Given the description of an element on the screen output the (x, y) to click on. 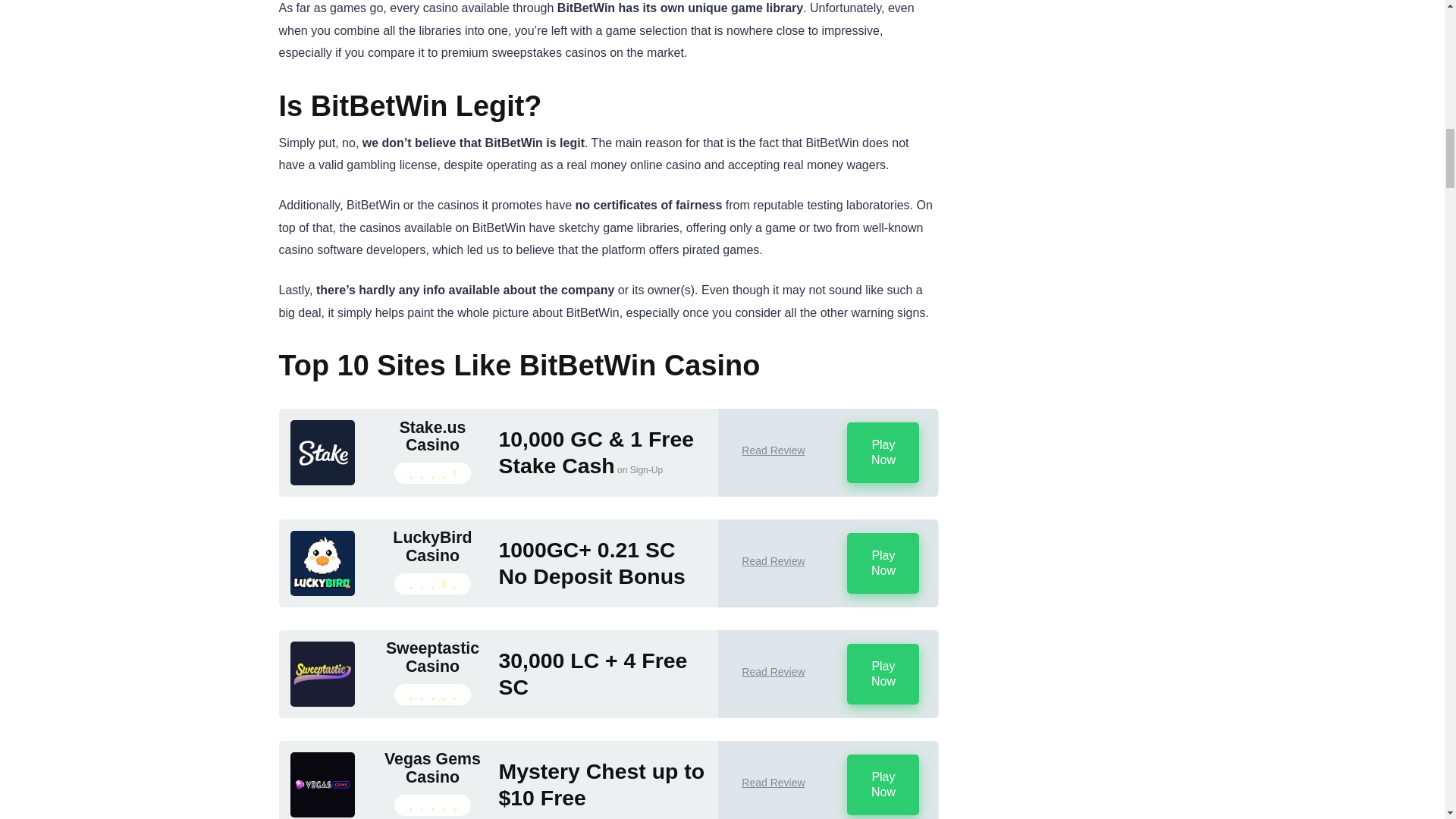
Read Review (773, 782)
Read Review (773, 671)
Play Now (882, 784)
Sweeptastic Casino (431, 657)
Stake.us Casino (322, 481)
LuckyBird Casino (322, 591)
Play Now (882, 563)
Vegas Gems Casino (322, 812)
Stake.us Casino (431, 436)
Read Review (773, 561)
Sweeptastic Casino (322, 702)
Read Review (773, 450)
LuckyBird Casino (431, 547)
Vegas Gems Casino (431, 768)
Play Now (882, 673)
